Given the description of an element on the screen output the (x, y) to click on. 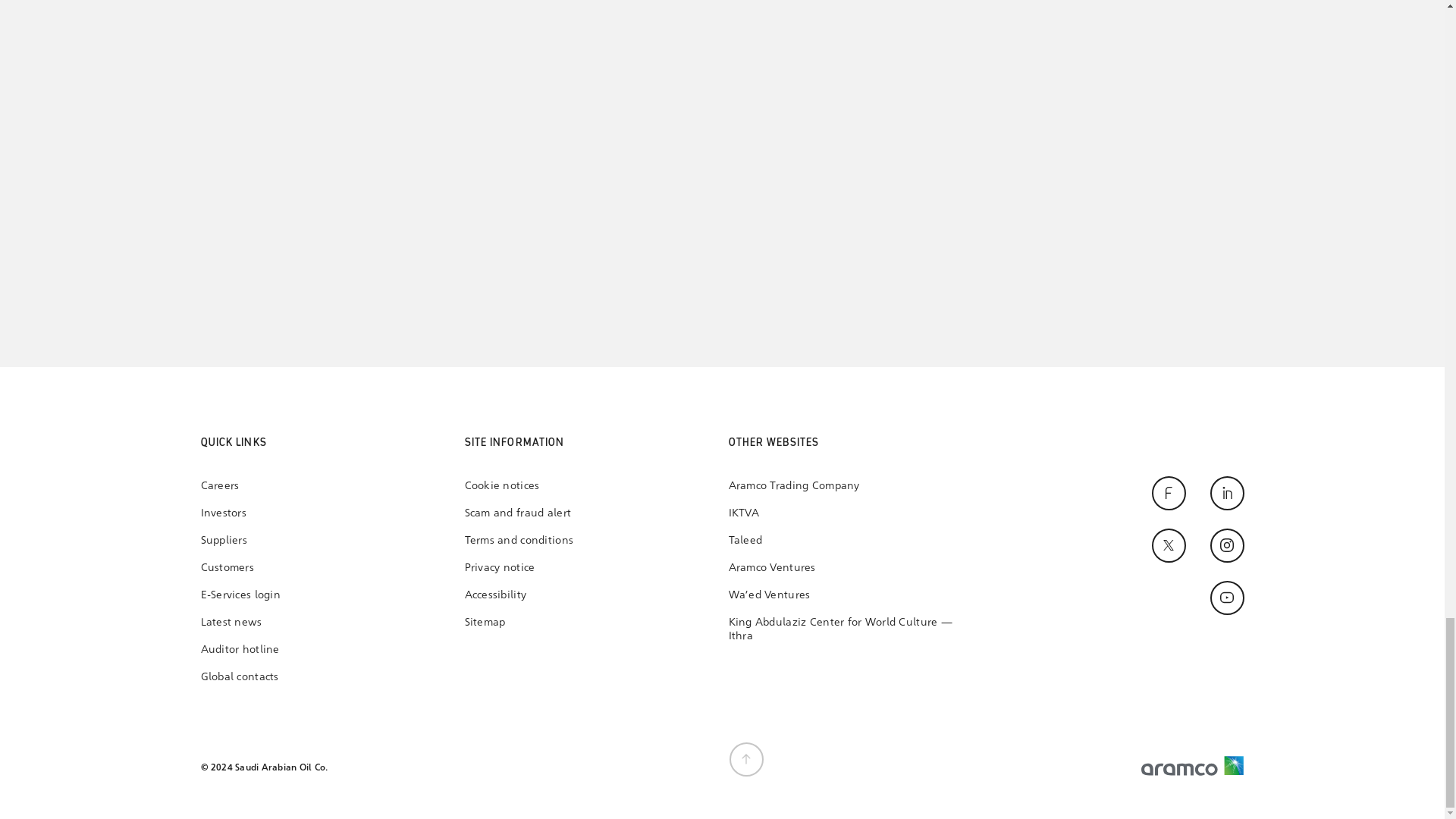
E-Services login (239, 594)
Investors (239, 513)
Careers (239, 486)
Auditor hotline (239, 649)
Customers (239, 567)
Global contacts (239, 676)
Aramco Trading Company (845, 486)
Terms and conditions (518, 540)
Sitemap (518, 622)
Wa'ed Ventures (845, 594)
